Given the description of an element on the screen output the (x, y) to click on. 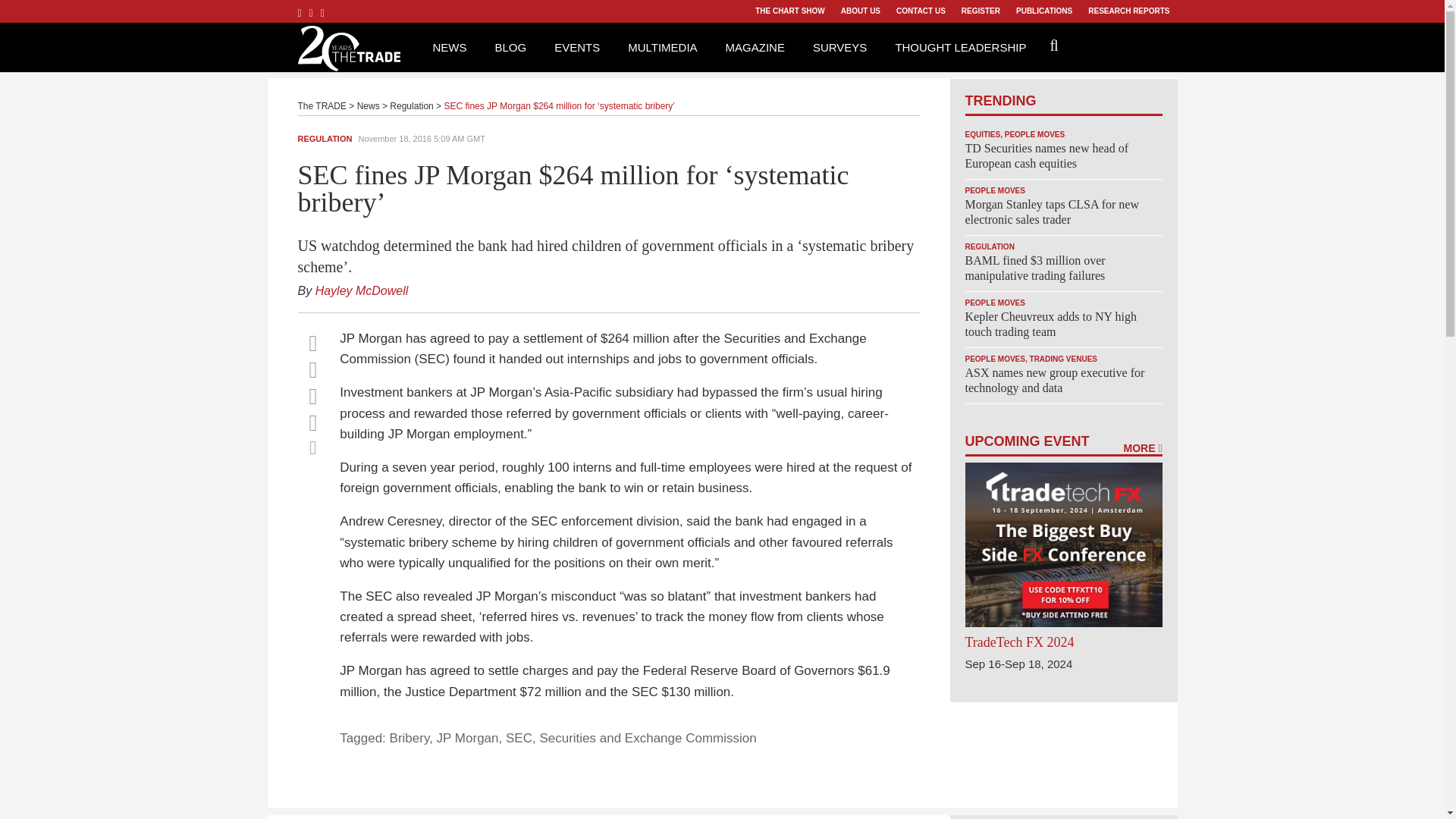
Go to the News Category archives. (368, 105)
THE CHART SHOW (789, 11)
Go to the Regulation Category archives. (411, 105)
ABOUT US (860, 11)
REGISTER (980, 11)
Go to The TRADE. (321, 105)
CONTACT US (920, 11)
PUBLICATIONS (1043, 11)
